Given the description of an element on the screen output the (x, y) to click on. 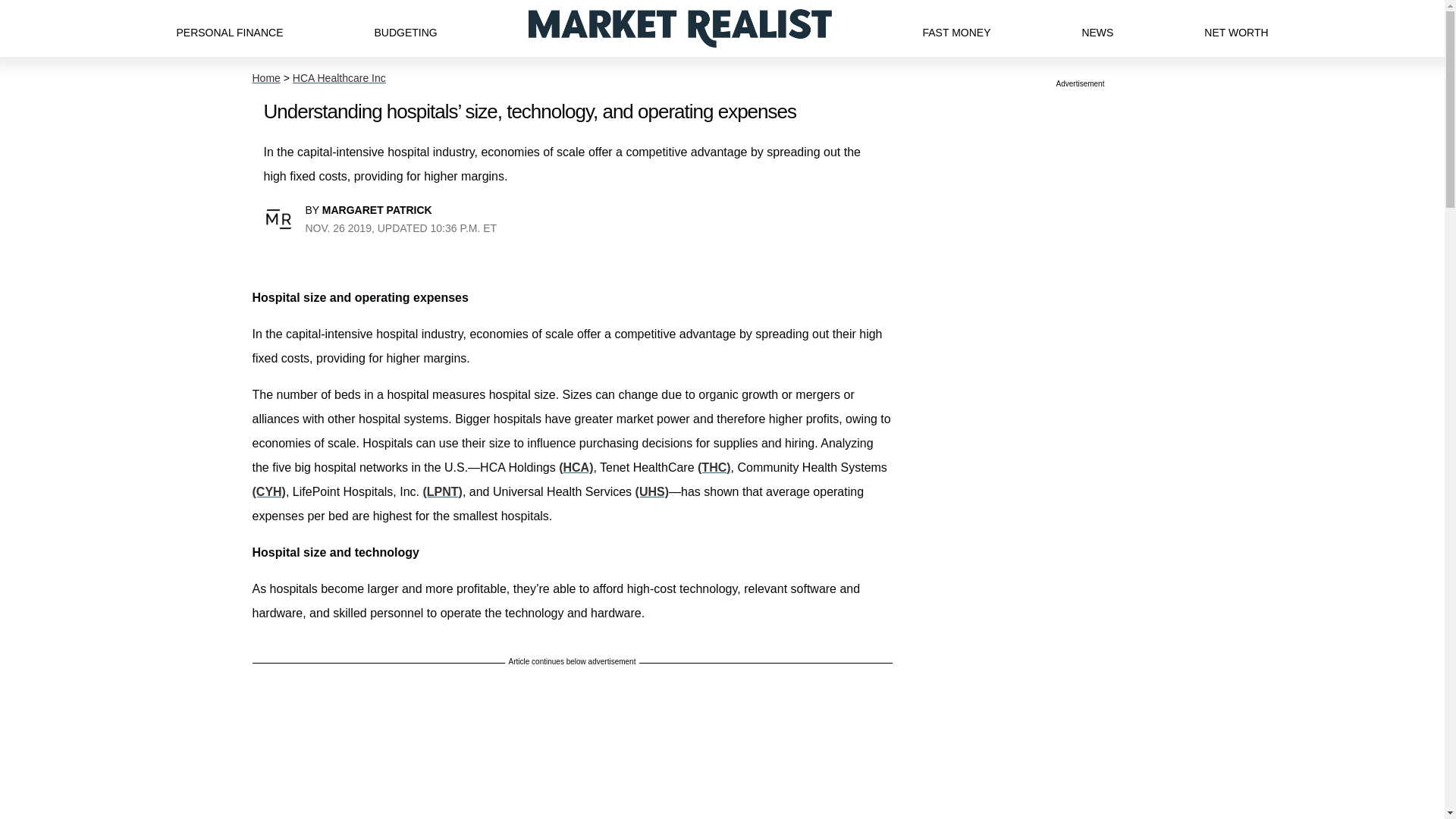
PERSONAL FINANCE (229, 27)
NET WORTH (1236, 27)
FAST MONEY (955, 27)
HCA Healthcare Inc (338, 78)
MARGARET PATRICK (376, 209)
Home (265, 78)
BUDGETING (405, 27)
NEWS (1097, 27)
